Given the description of an element on the screen output the (x, y) to click on. 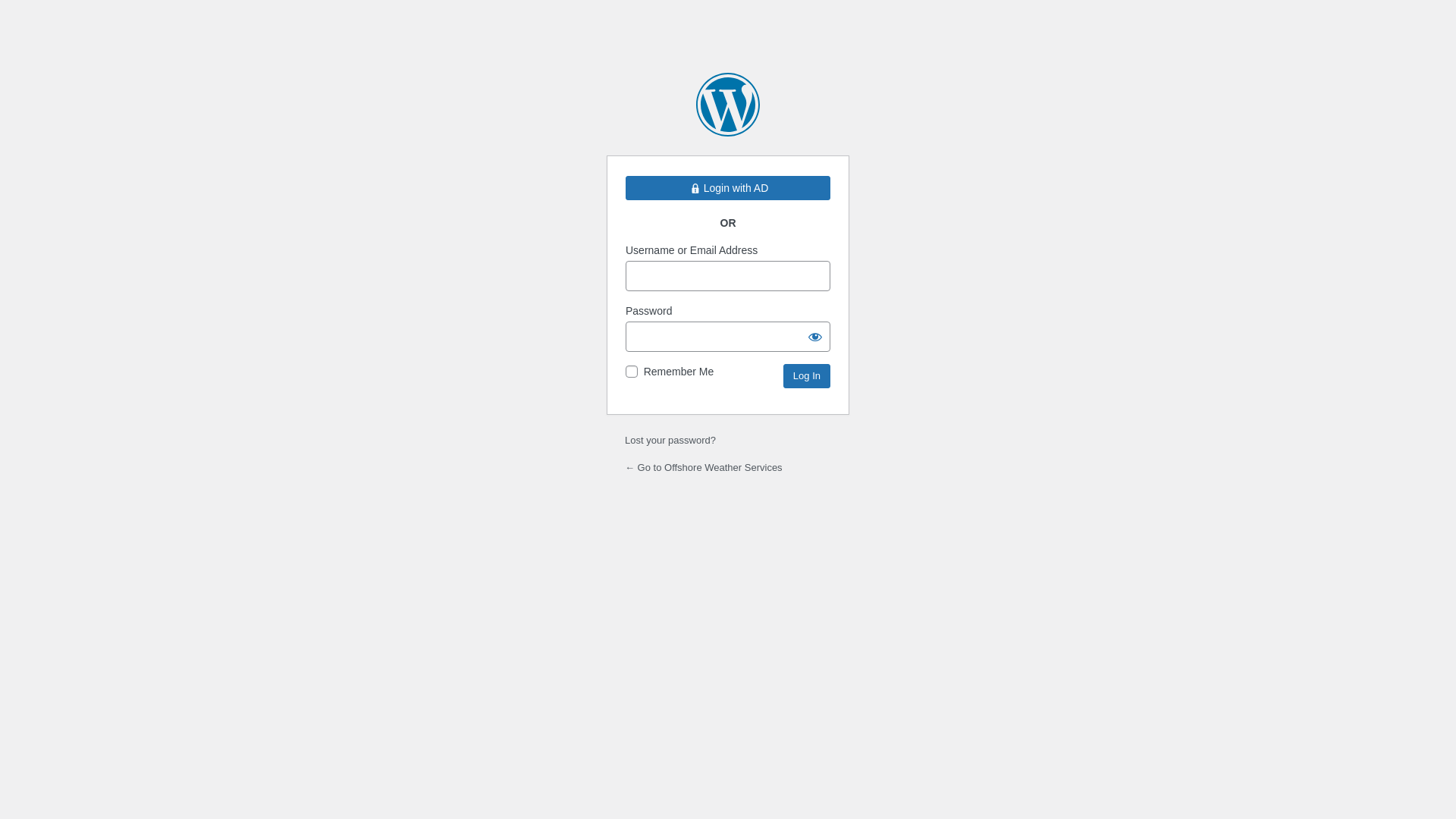
Login with AD Element type: text (727, 187)
Lost your password? Element type: text (669, 439)
Log In Element type: text (806, 376)
Powered by WordPress Element type: text (727, 104)
